Given the description of an element on the screen output the (x, y) to click on. 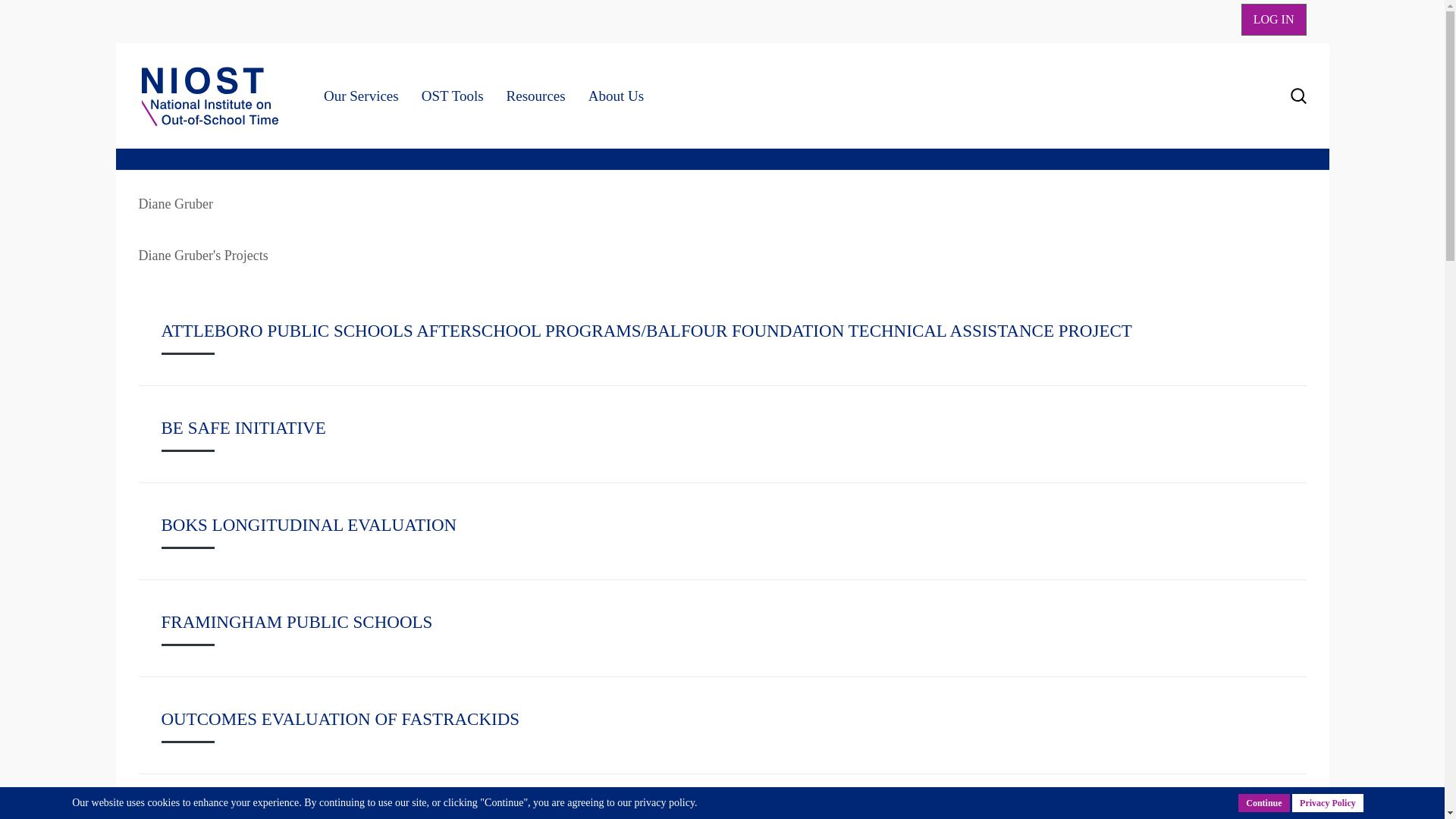
Outcomes Evaluation of FasTracKids (339, 719)
Be Safe Initiative  (242, 427)
BE SAFE INITIATIVE (242, 427)
NIOST Portals (1273, 20)
LOG IN (1273, 20)
FRAMINGHAM PUBLIC SCHOOLS (296, 621)
BOKS Longitudinal Evaluation (308, 524)
BOKS LONGITUDINAL EVALUATION (308, 524)
